Given the description of an element on the screen output the (x, y) to click on. 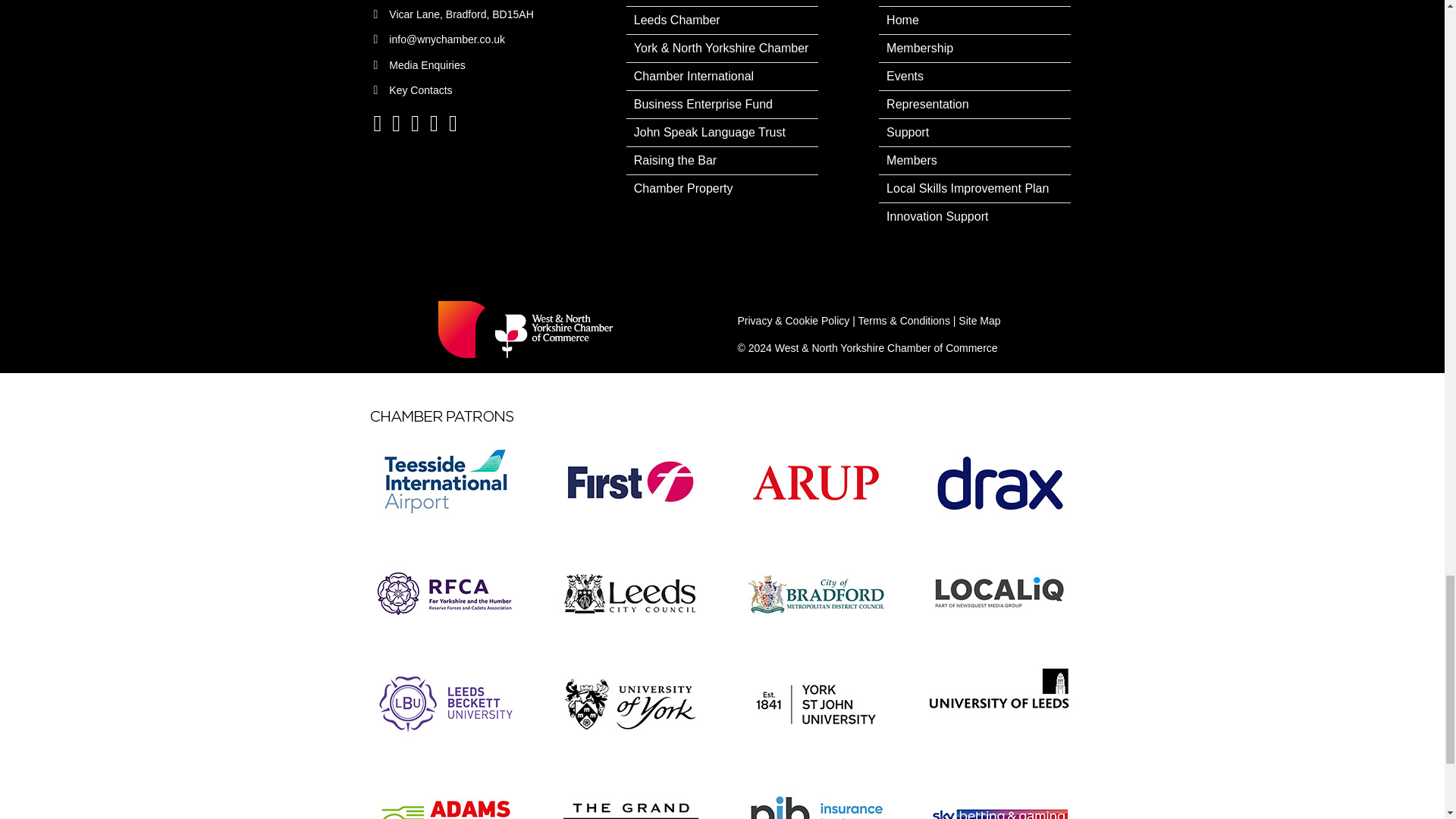
Sub-Menu-Logo-Type (532, 329)
